Given the description of an element on the screen output the (x, y) to click on. 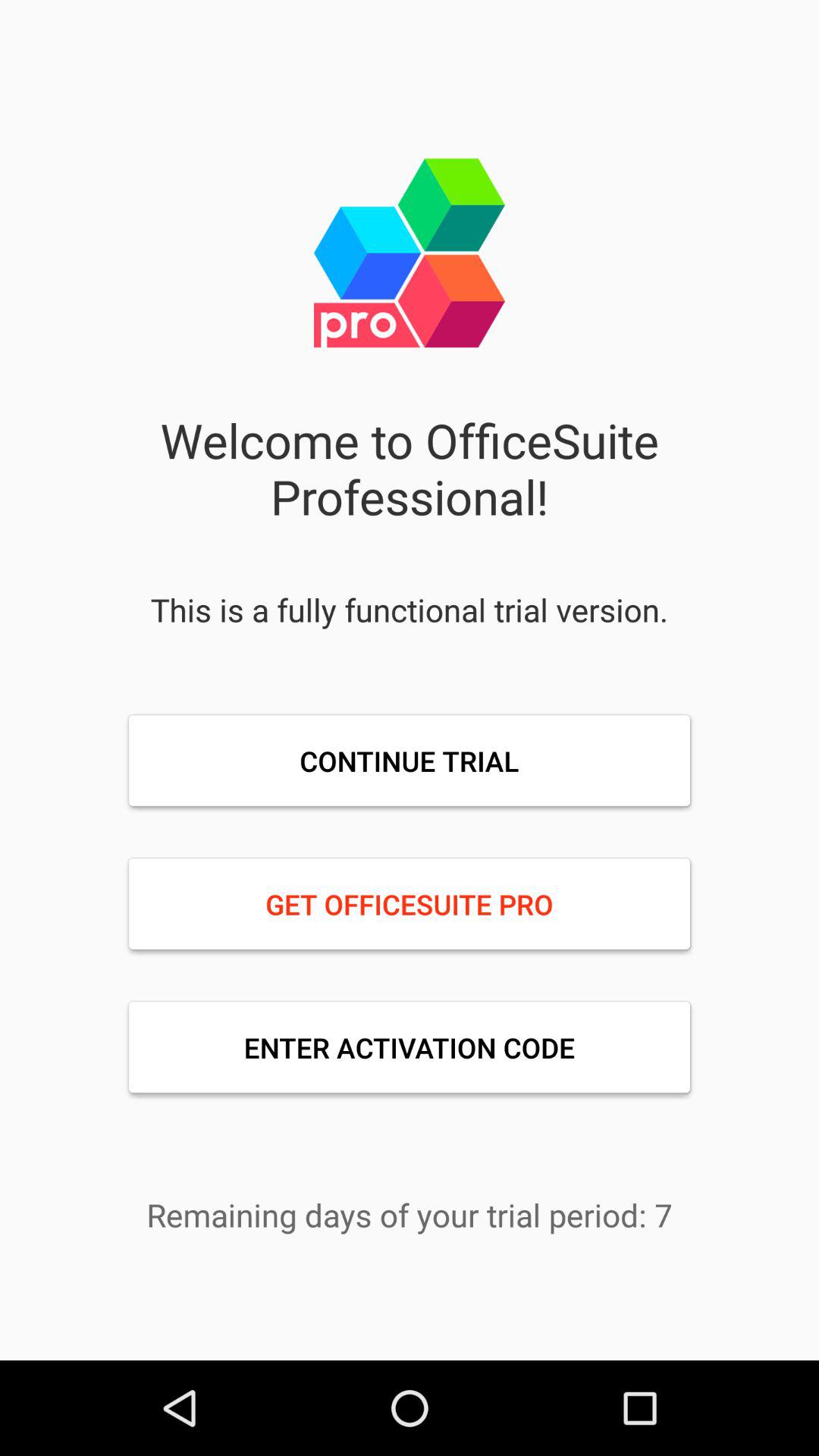
scroll to enter activation code item (409, 1047)
